Given the description of an element on the screen output the (x, y) to click on. 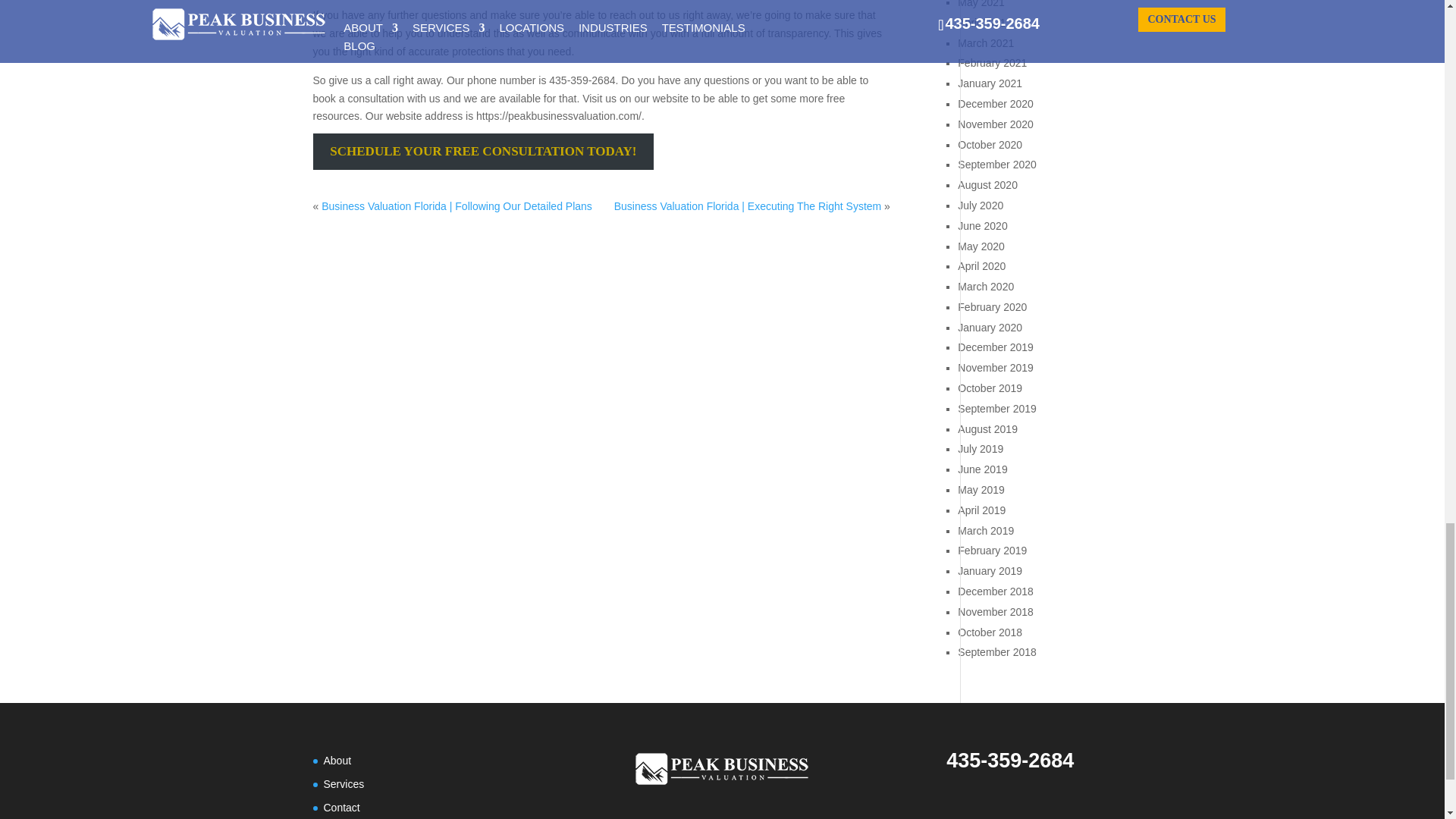
SCHEDULE YOUR FREE CONSULTATION TODAY! (483, 150)
